Given the description of an element on the screen output the (x, y) to click on. 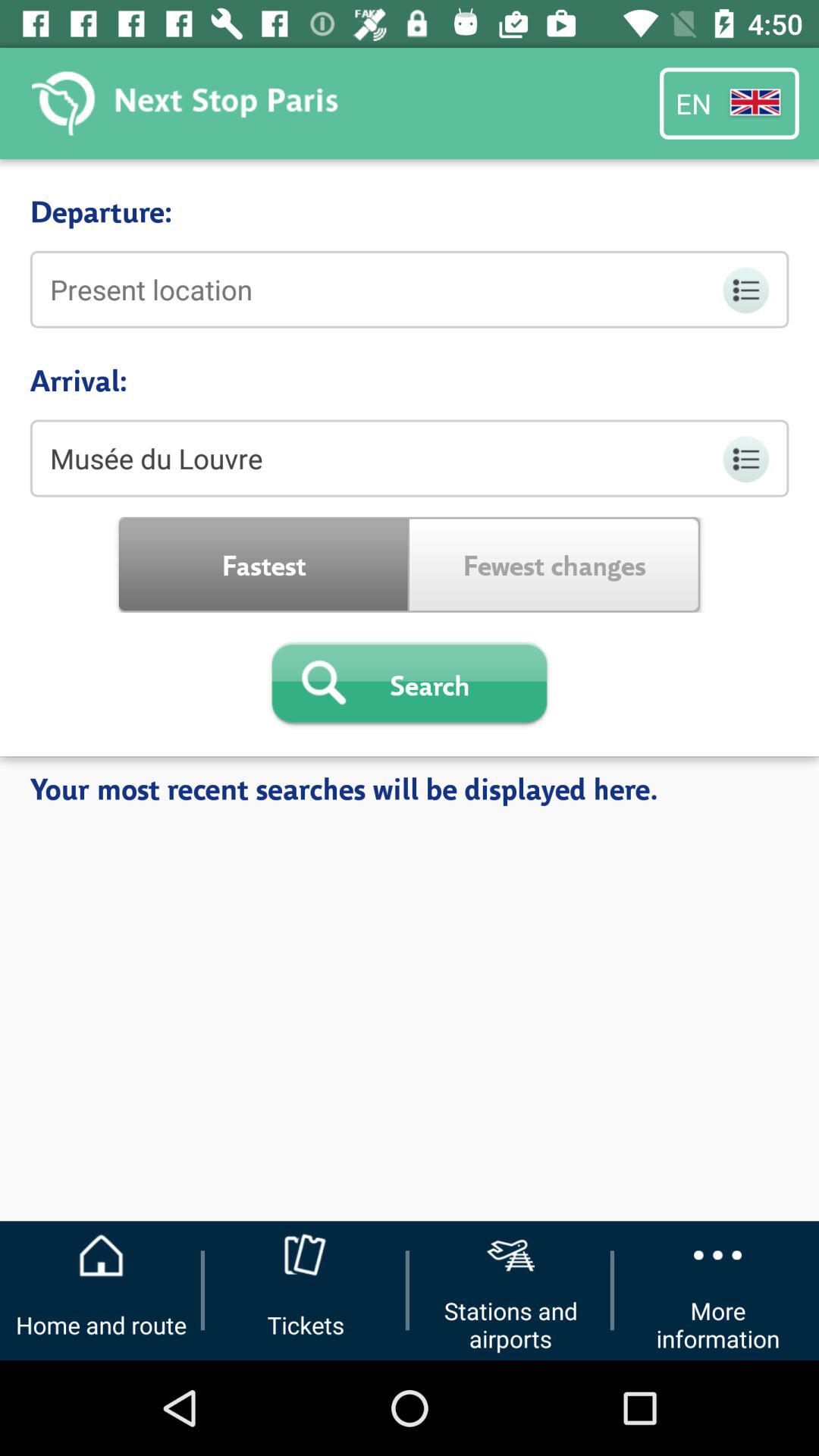
choose item above the search icon (554, 564)
